Given the description of an element on the screen output the (x, y) to click on. 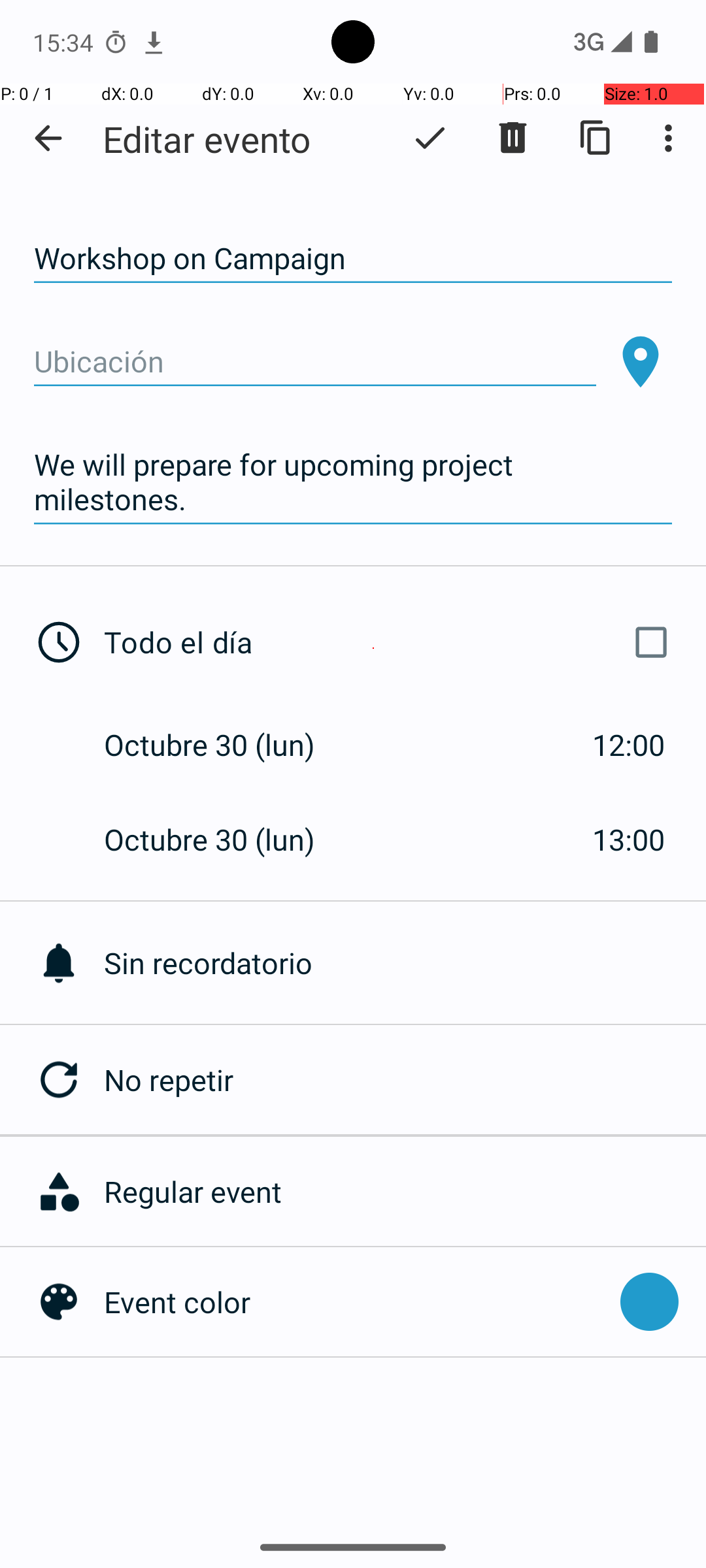
Editar evento Element type: android.widget.TextView (206, 138)
Eliminar Element type: android.widget.Button (512, 137)
Duplicar un evento Element type: android.widget.Button (595, 137)
Ubicación Element type: android.widget.EditText (314, 361)
We will prepare for upcoming project milestones. Element type: android.widget.EditText (352, 482)
Octubre 30 (lun) Element type: android.widget.TextView (222, 744)
Sin recordatorio Element type: android.widget.TextView (404, 962)
